Given the description of an element on the screen output the (x, y) to click on. 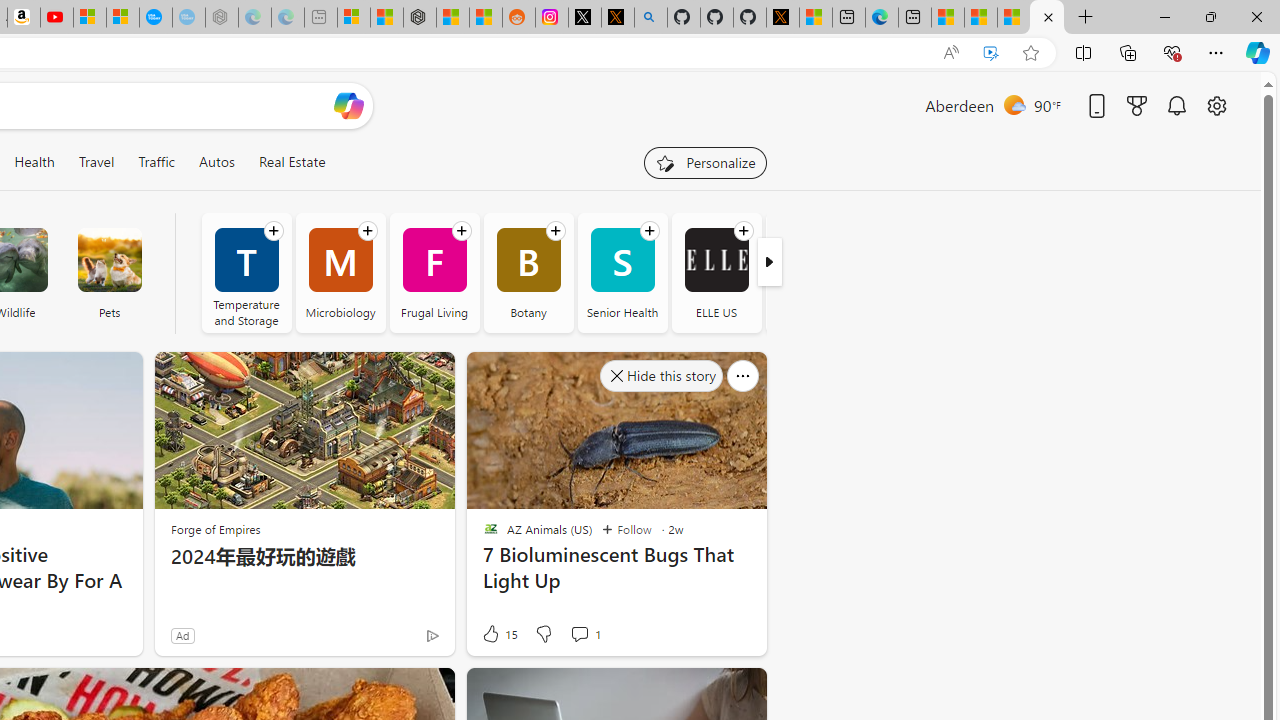
Senior Health (622, 272)
ELLE US (715, 260)
